Given the description of an element on the screen output the (x, y) to click on. 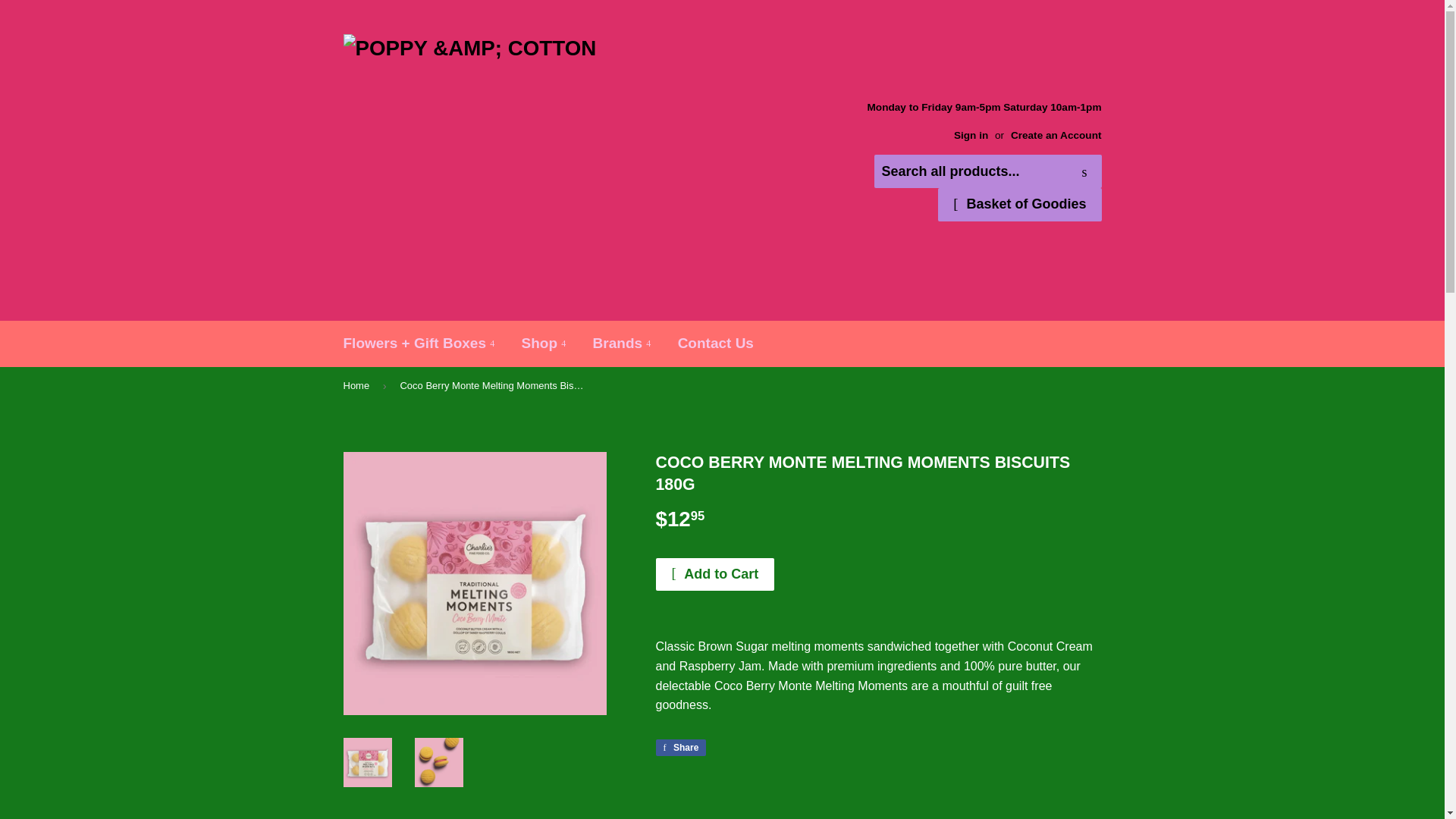
Share on Facebook (680, 747)
Search (1084, 172)
Basket of Goodies (1018, 204)
Monday to Friday 9am-5pm Saturday 10am-1pm (984, 119)
Shop (544, 343)
Create an Account (1056, 134)
Sign in (970, 134)
